Given the description of an element on the screen output the (x, y) to click on. 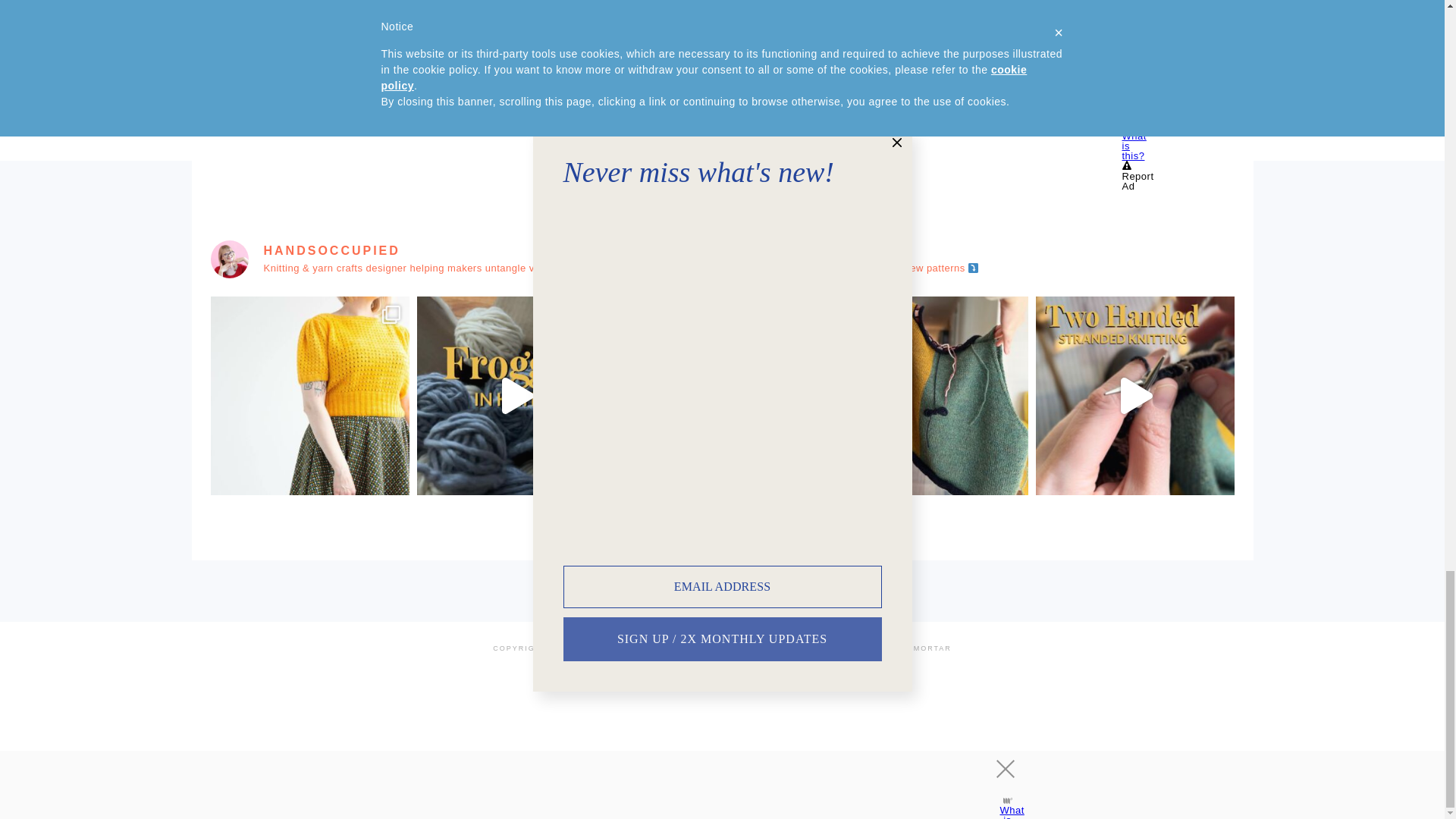
3rd party ad content (1023, 60)
Load More... (650, 520)
